Given the description of an element on the screen output the (x, y) to click on. 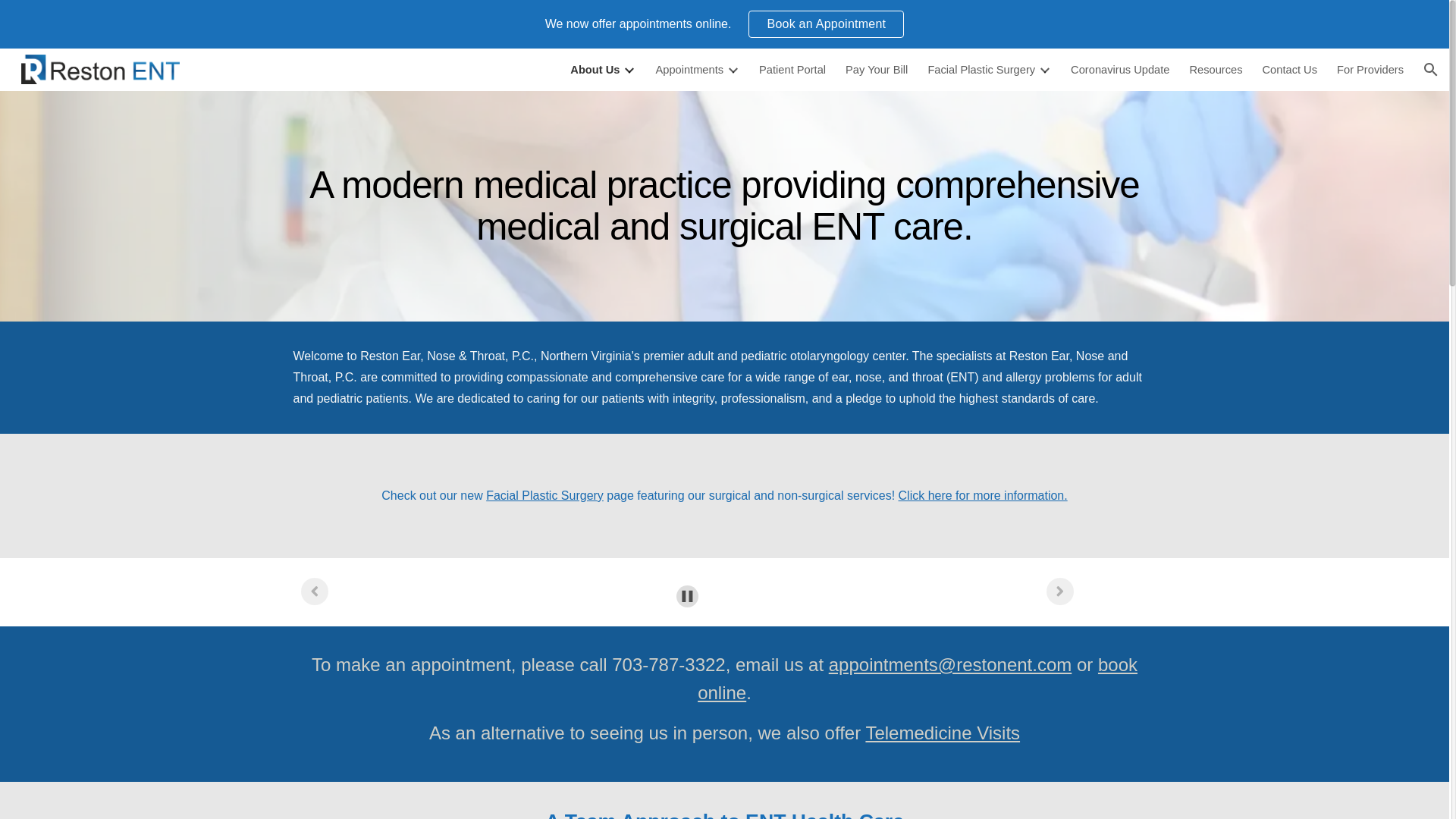
Facial Plastic Surgery (988, 69)
About Us (602, 69)
Appointments (697, 69)
For Providers (1369, 69)
Coronavirus Update (1119, 69)
RestonENT (100, 68)
Contact Us (1289, 69)
Resources (1214, 69)
Book an Appointment (826, 23)
Patient Portal (791, 69)
